Given the description of an element on the screen output the (x, y) to click on. 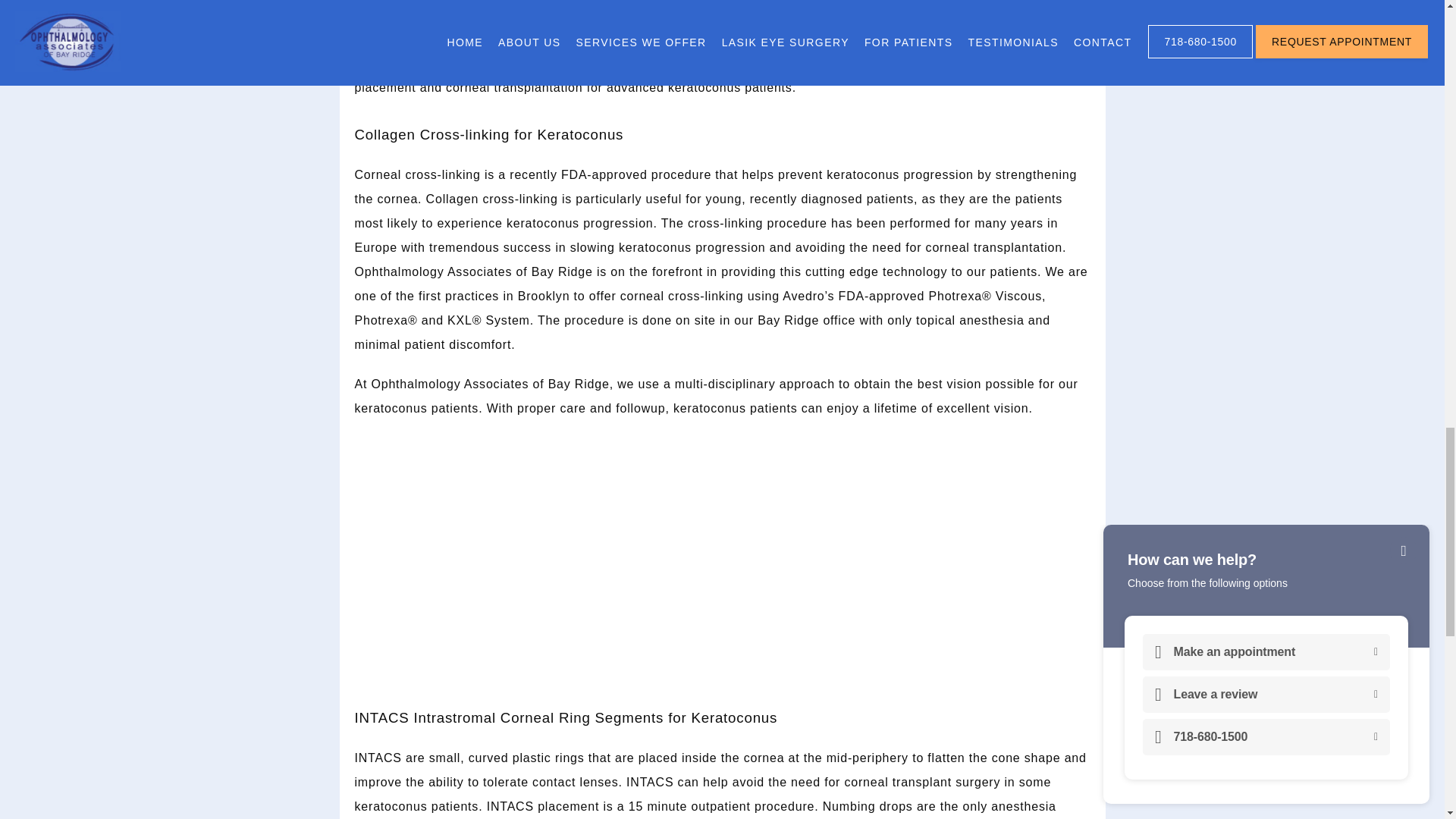
Cross-Linking for Progressive Keratoconus (721, 554)
